Given the description of an element on the screen output the (x, y) to click on. 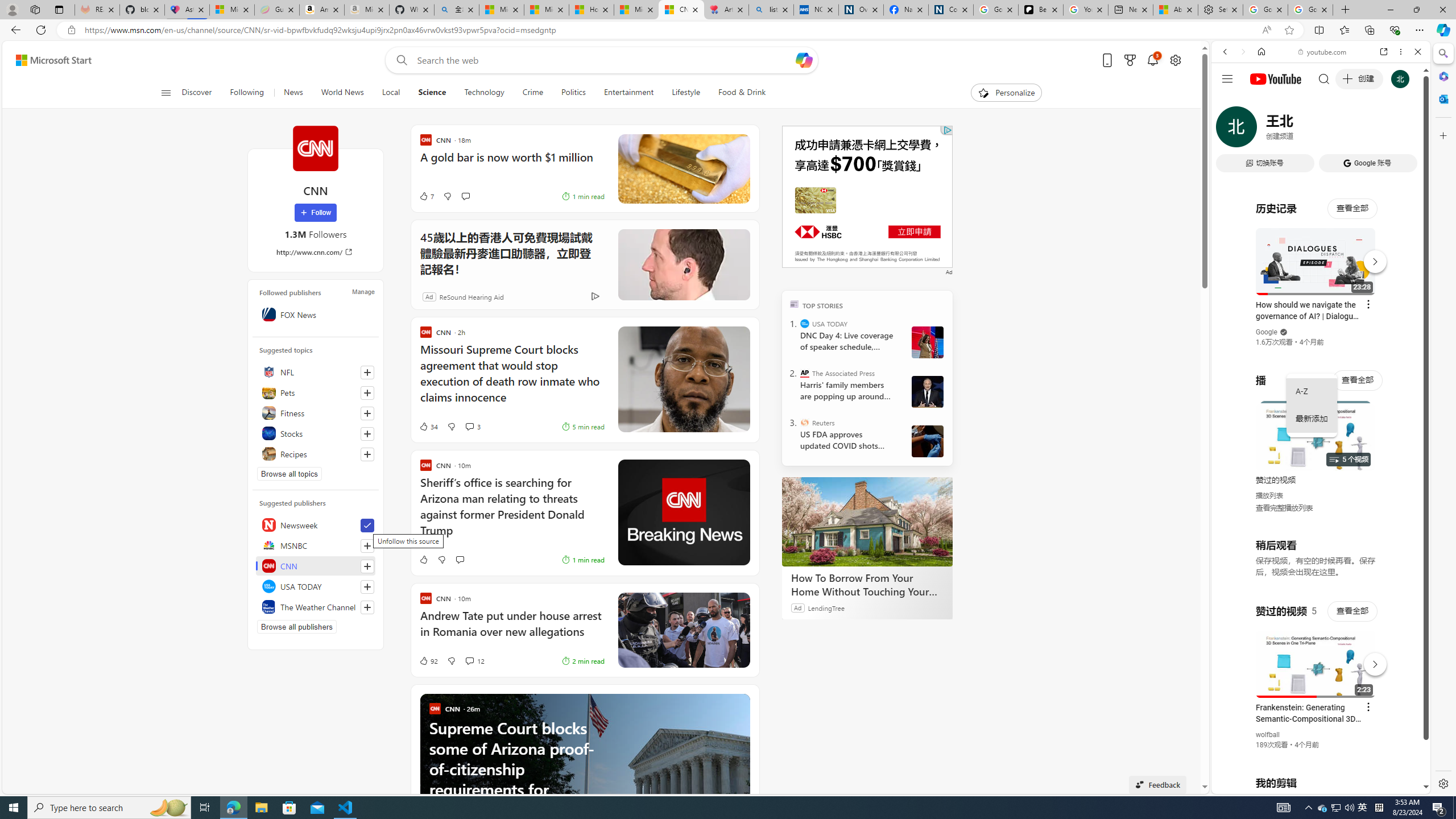
Lifestyle (685, 92)
Unfollow this source (367, 525)
AutomationID: canvas (866, 196)
View comments 3 Comment (469, 426)
Class: qc-adchoices-icon (947, 130)
